Given the description of an element on the screen output the (x, y) to click on. 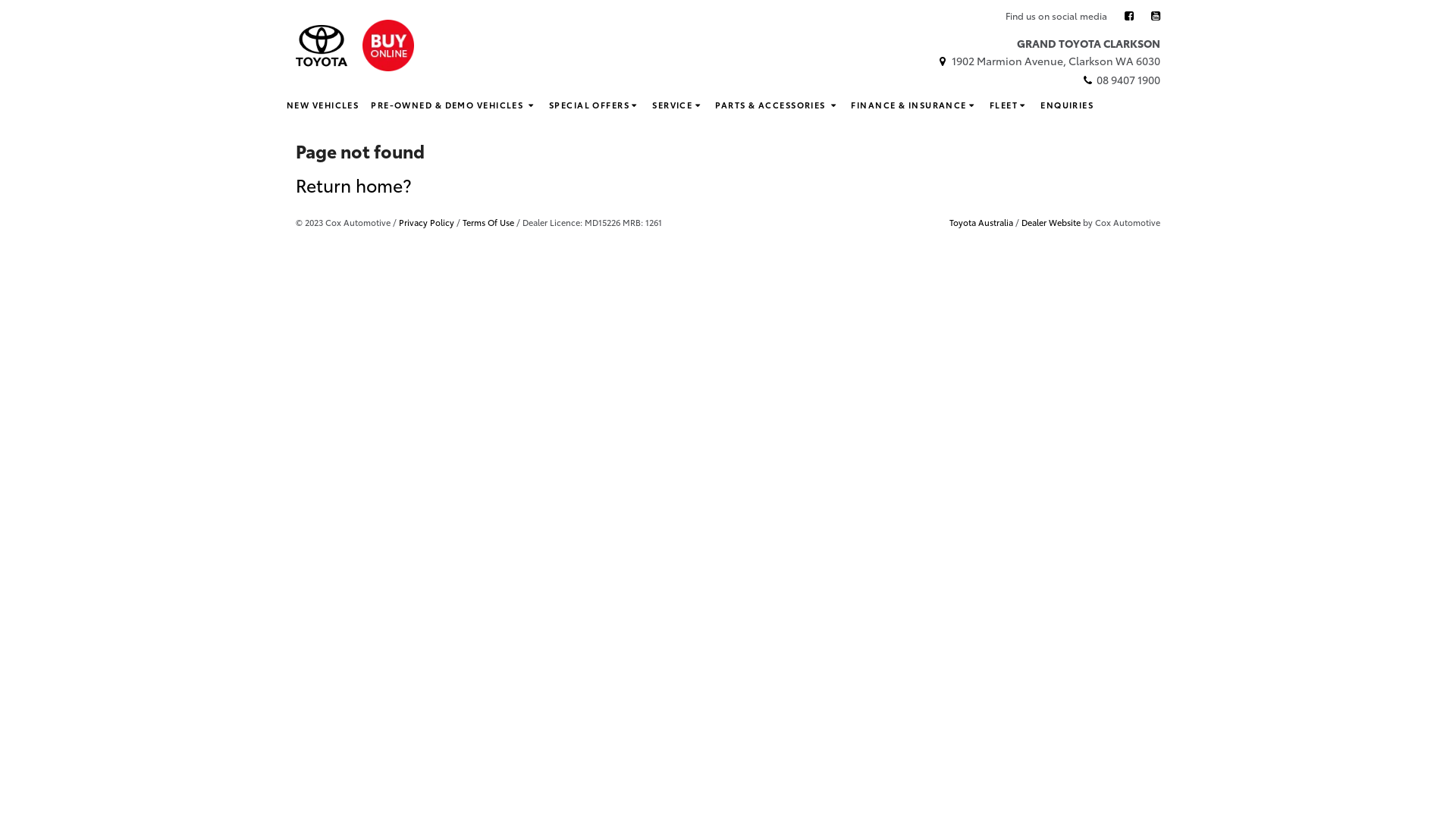
SPECIAL OFFERS Element type: text (594, 104)
PRE-OWNED & DEMO VEHICLES Element type: text (453, 104)
SERVICE Element type: text (677, 104)
ENQUIRIES Element type: text (1066, 104)
PARTS & ACCESSORIES Element type: text (776, 104)
FINANCE & INSURANCE Element type: text (913, 104)
Terms Of Use Element type: text (488, 222)
YouTube Element type: hover (1155, 14)
NEW VEHICLES Element type: text (322, 104)
Dealer Website Element type: text (1050, 222)
FLEET Element type: text (1008, 104)
1902 Marmion Avenue, Clarkson WA 6030 Element type: text (1047, 60)
Privacy Policy Element type: text (426, 222)
Return home? Element type: text (353, 184)
Toyota Australia Element type: text (981, 222)
08 9407 1900 Element type: text (1120, 79)
Facebook Element type: hover (1128, 14)
